Given the description of an element on the screen output the (x, y) to click on. 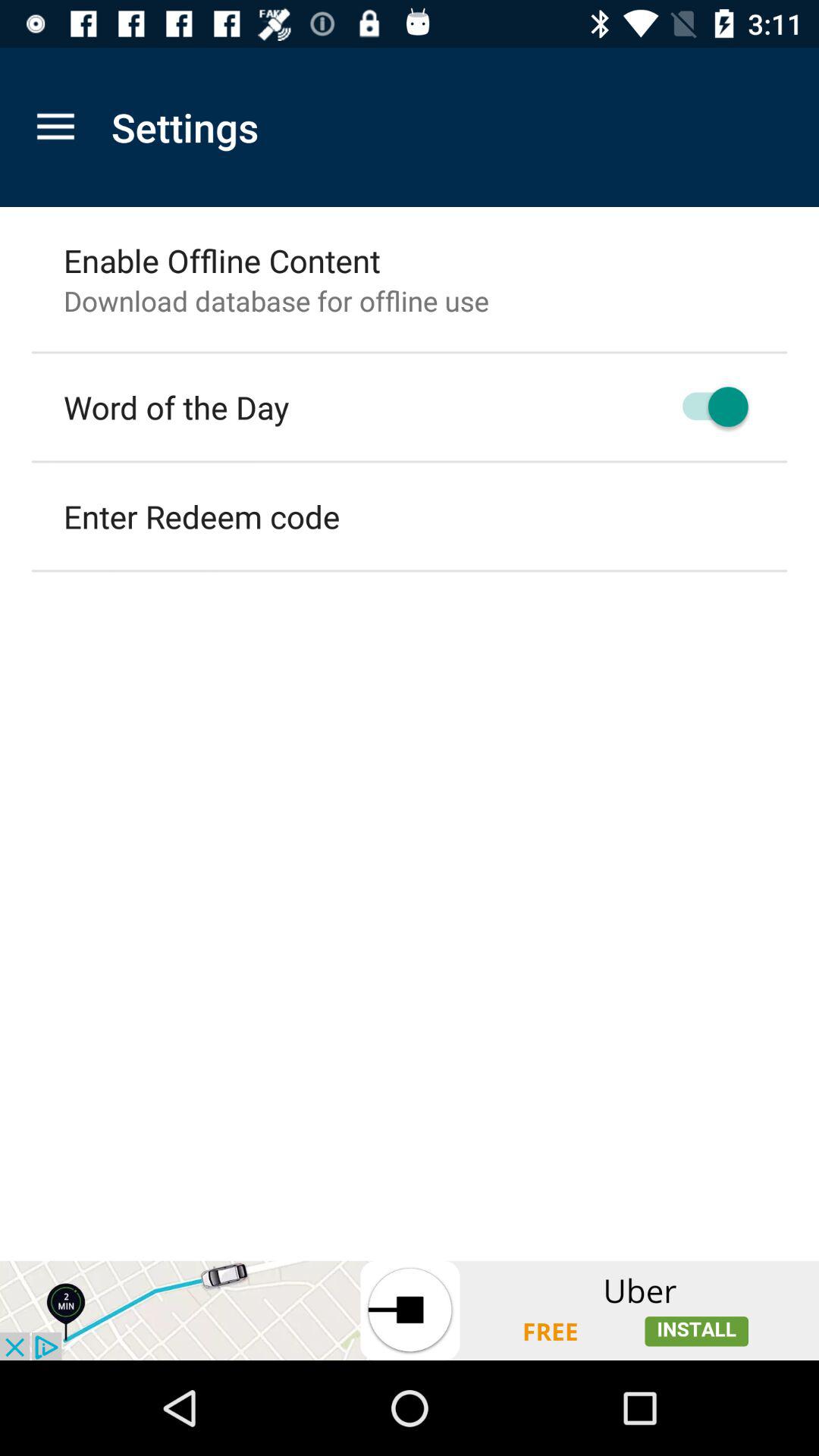
view advertisement (409, 1310)
